Given the description of an element on the screen output the (x, y) to click on. 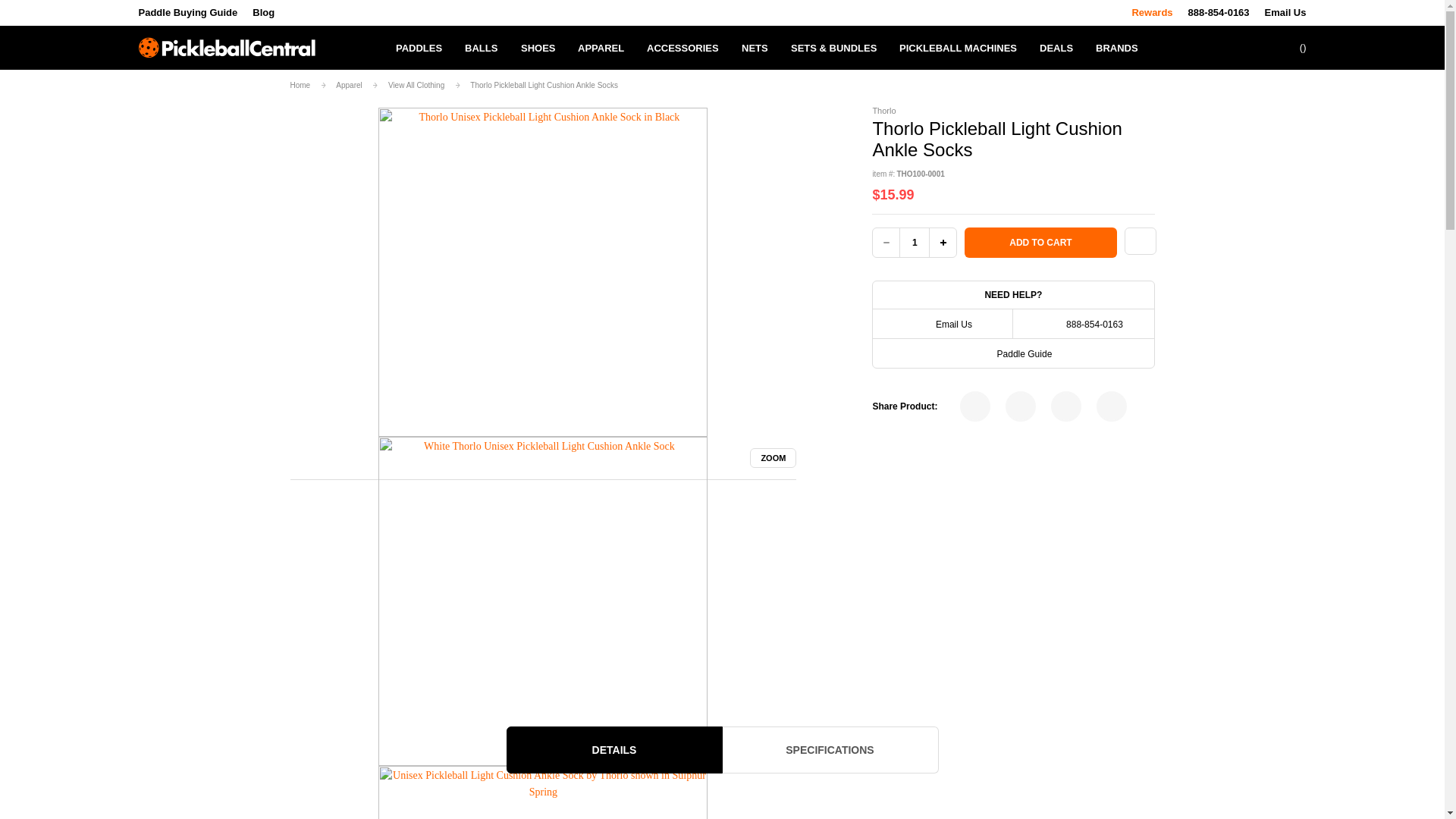
White Thorlo Unisex Pickleball Light Cushion Ankle Sock (542, 600)
Email Us (1285, 12)
1 (914, 242)
Rewards (1151, 12)
Thorlo Unisex Pickleball Light Cushion Ankle Sock in Black (542, 271)
PADDLES (419, 47)
888-854-0163 (1218, 12)
PickleballCentral.com (226, 47)
Blog (263, 12)
Paddle Buying Guide (187, 12)
